Given the description of an element on the screen output the (x, y) to click on. 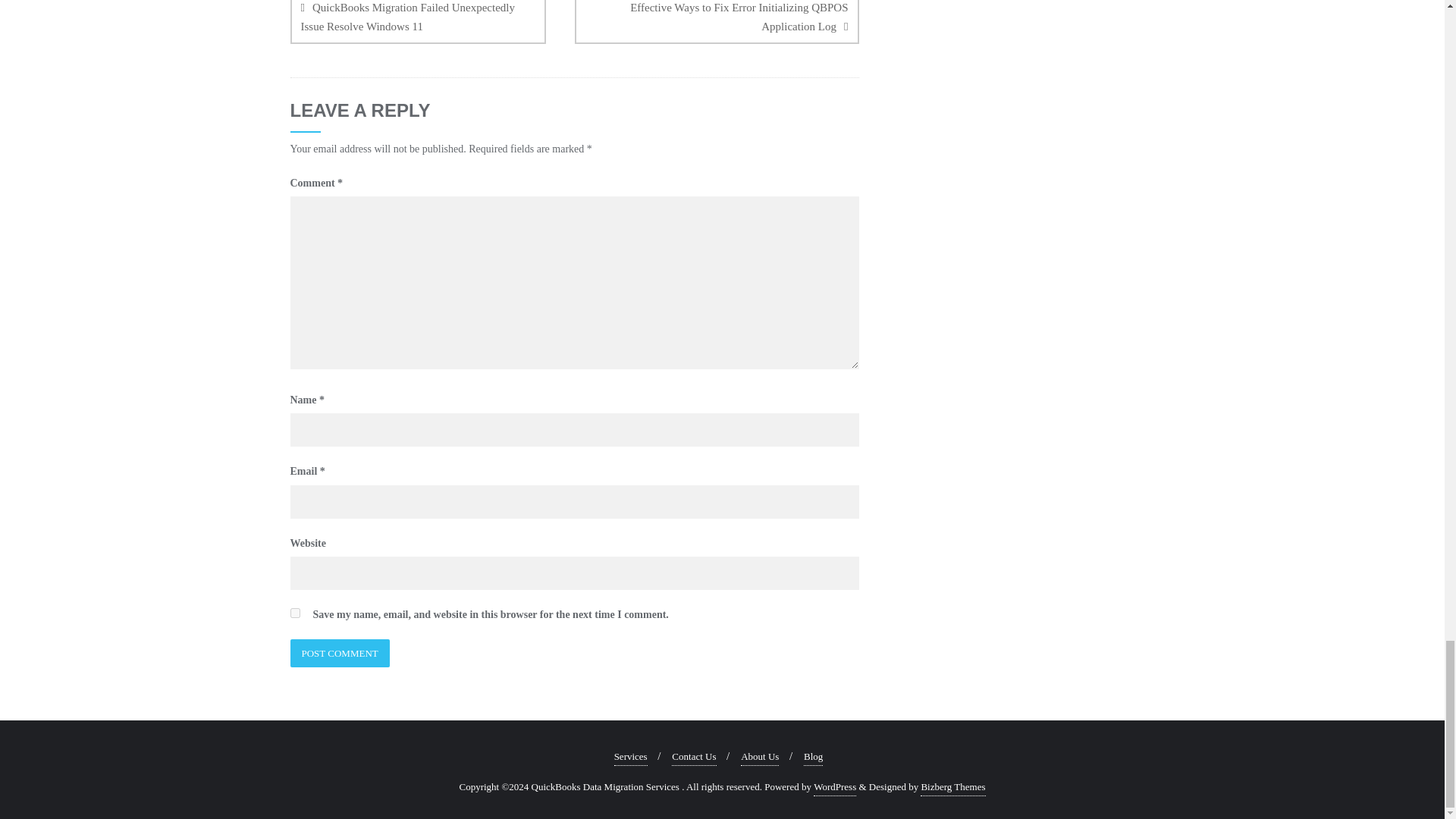
yes (294, 613)
Post Comment (338, 653)
Post Comment (338, 653)
